Given the description of an element on the screen output the (x, y) to click on. 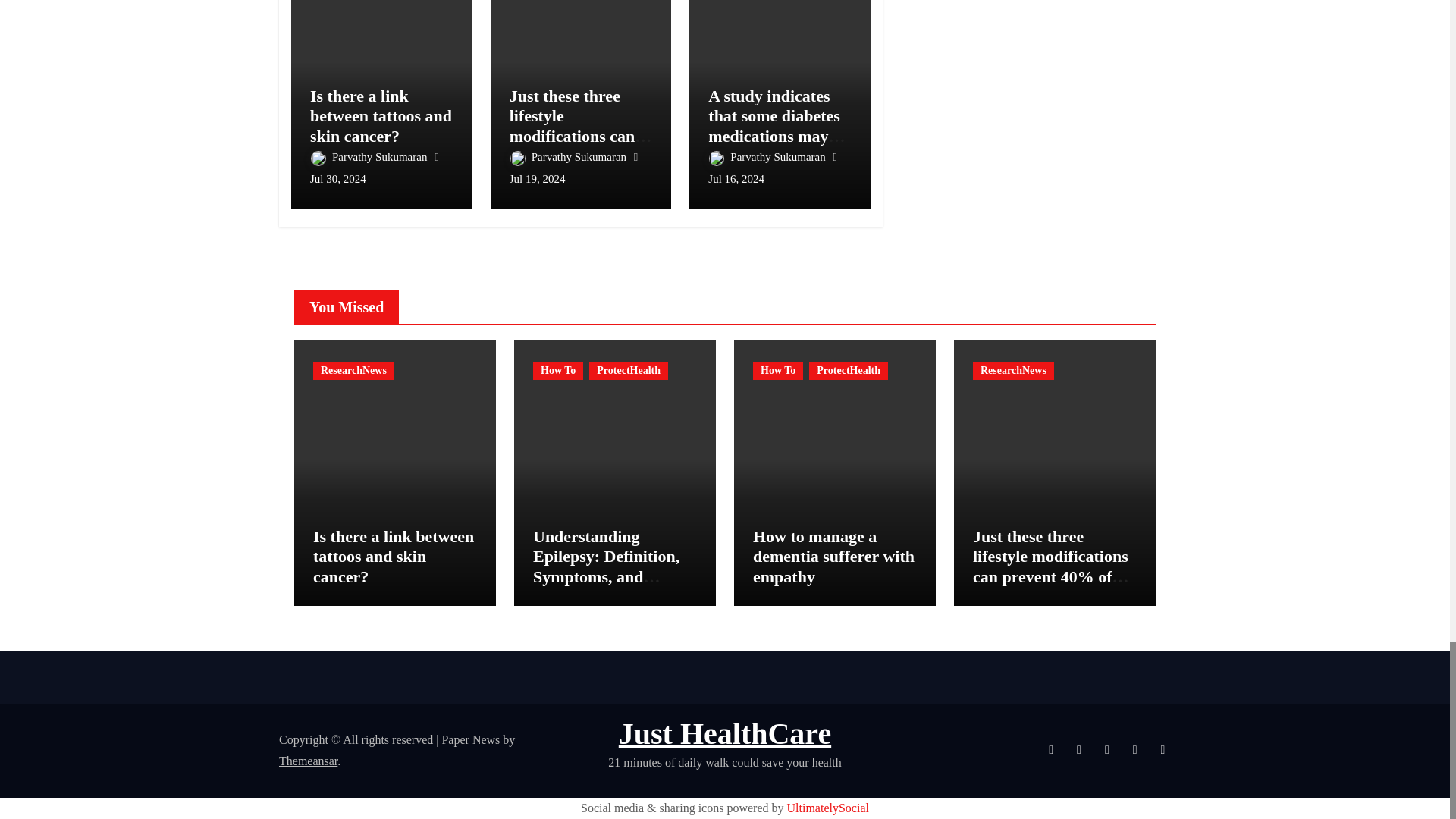
Permalink to: How to manage a dementia sufferer with empathy (833, 556)
